Given the description of an element on the screen output the (x, y) to click on. 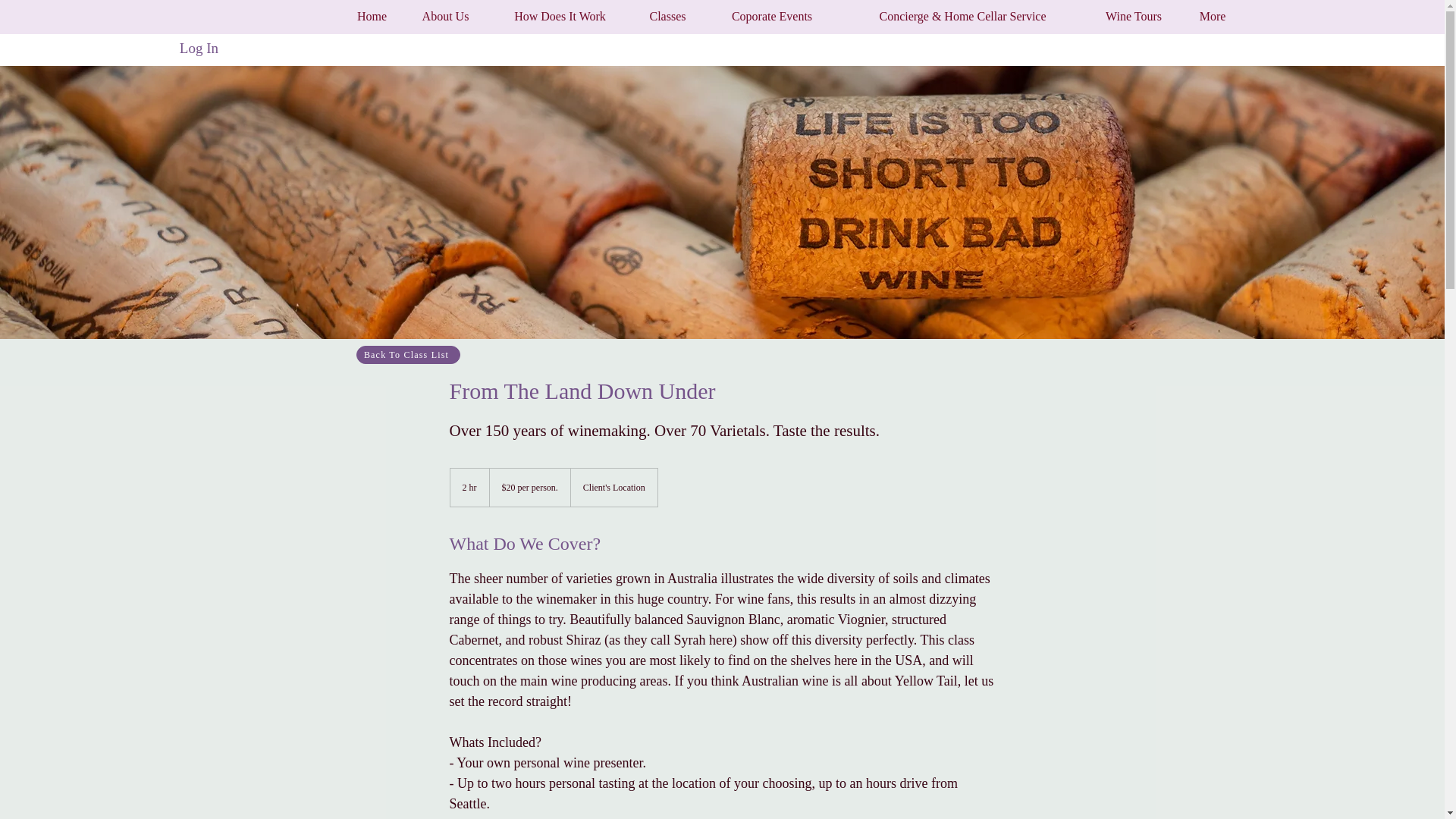
About Us (445, 16)
Wine Tours (1133, 16)
Classes (667, 16)
Coporate Events (772, 16)
Log In (198, 48)
How Does It Work (559, 16)
Back To Class List (408, 354)
Home (371, 16)
